Given the description of an element on the screen output the (x, y) to click on. 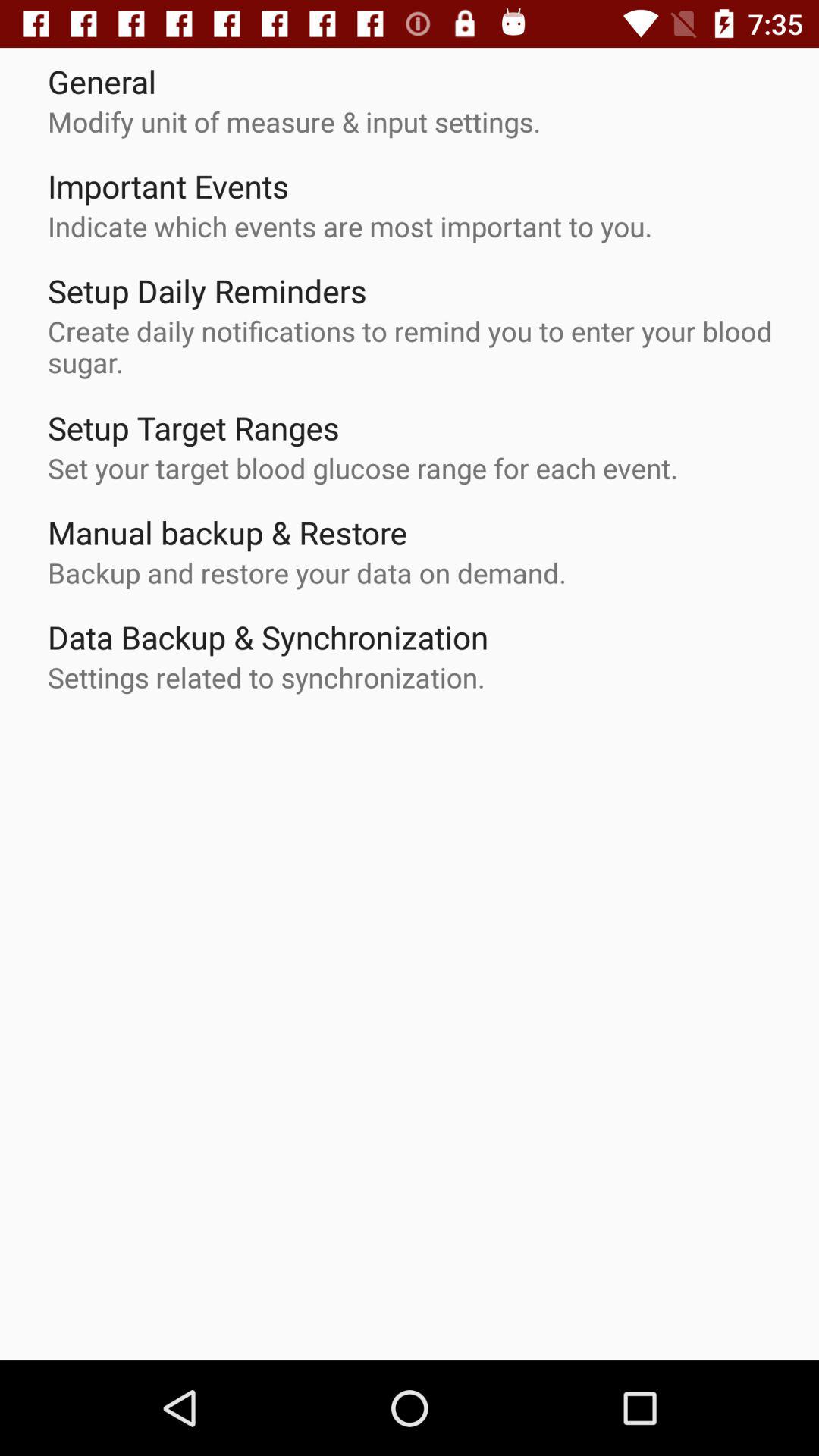
turn off the app below data backup & synchronization item (266, 677)
